Given the description of an element on the screen output the (x, y) to click on. 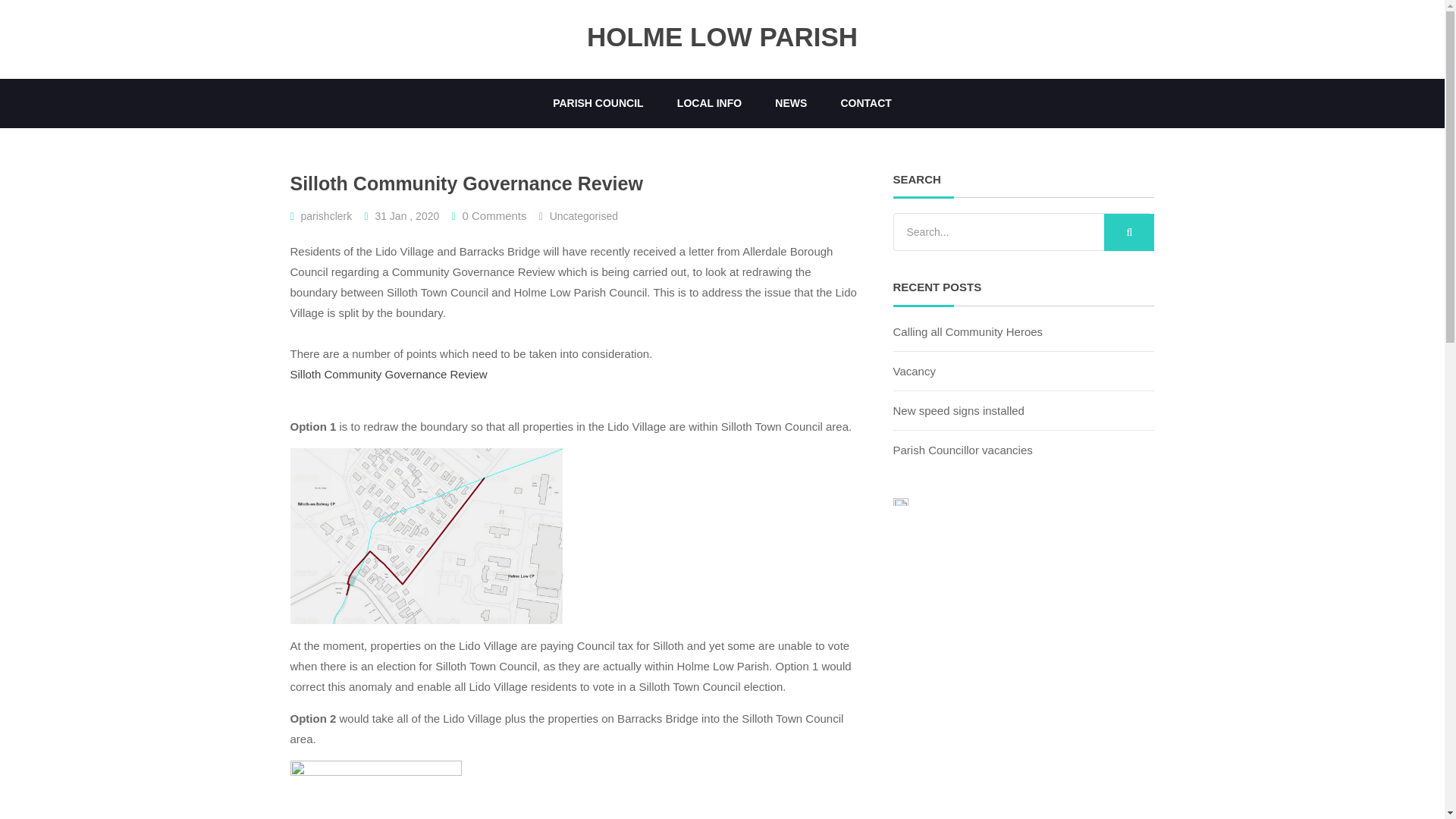
PARISH COUNCIL (598, 102)
HOLME LOW PARISH (721, 37)
LOCAL INFO (709, 102)
